Given the description of an element on the screen output the (x, y) to click on. 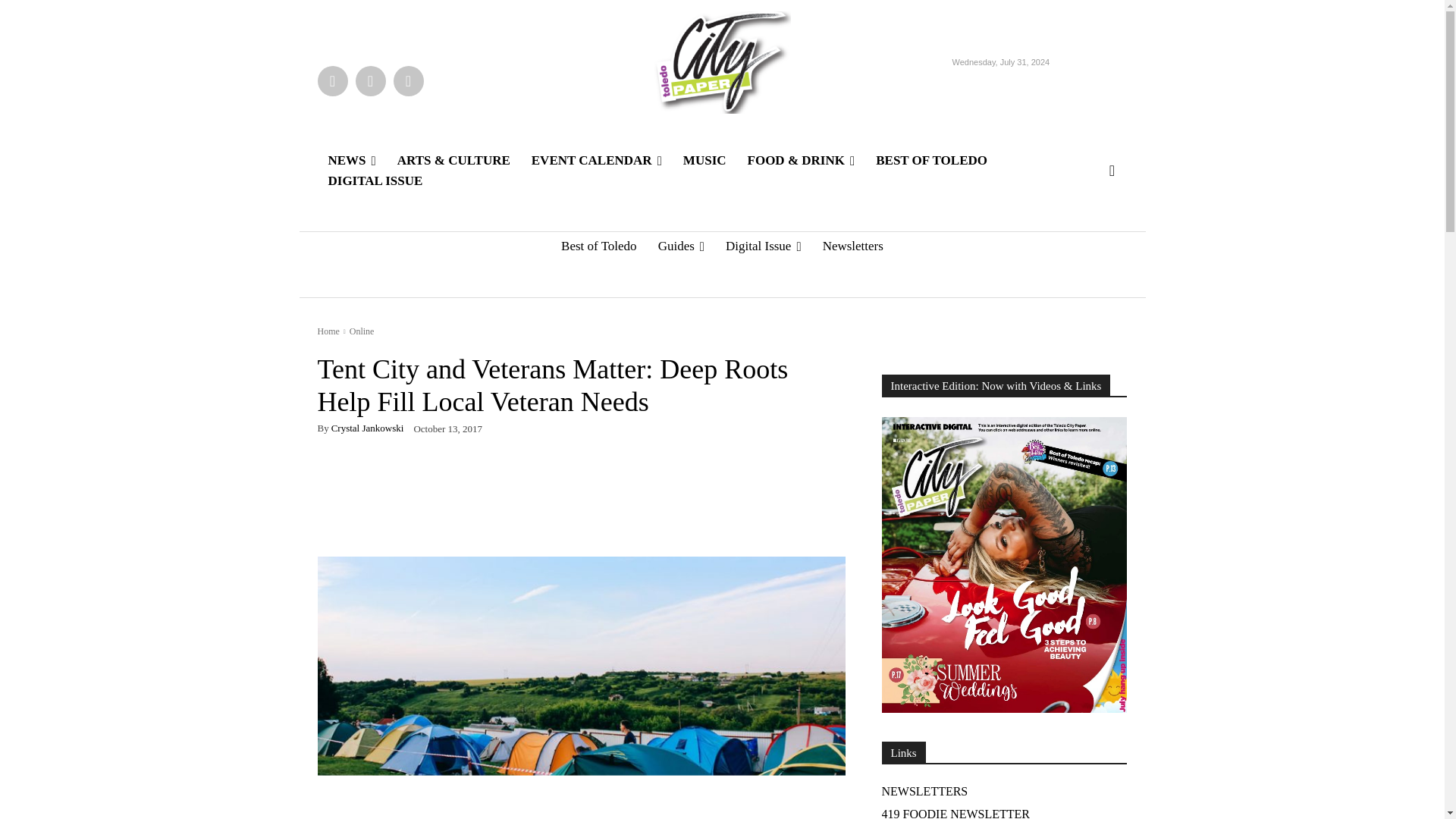
TikTok (408, 80)
Facebook (332, 80)
View all posts in Online (361, 330)
NEWS (351, 159)
Instagram (370, 80)
